Given the description of an element on the screen output the (x, y) to click on. 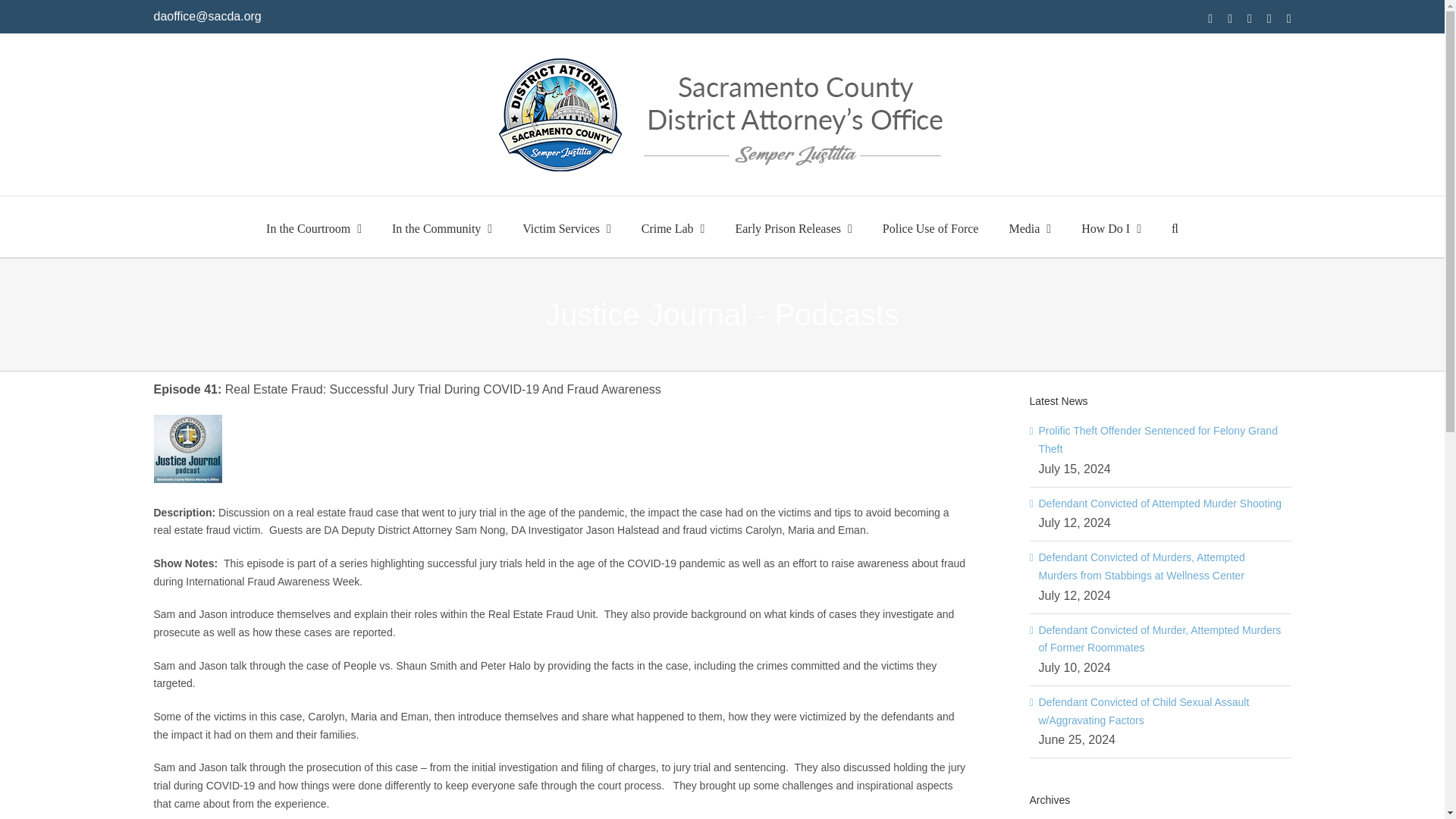
LinkedIn (1289, 19)
Facebook (1210, 19)
Search (1174, 226)
Instagram (1229, 19)
YouTube (1268, 19)
X (1249, 19)
In the Courtroom (313, 226)
In the Community (441, 226)
